Given the description of an element on the screen output the (x, y) to click on. 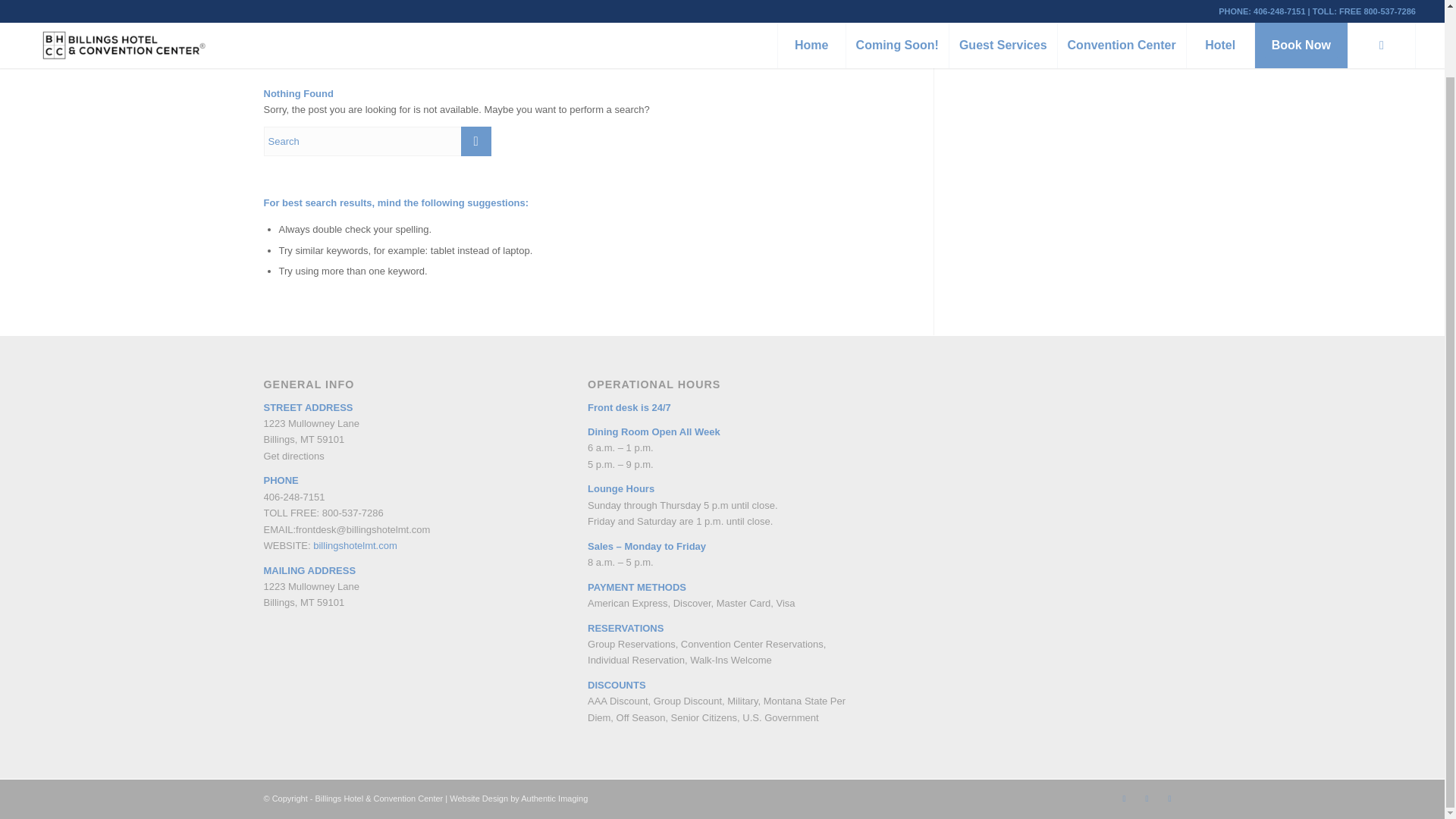
Home (1101, 16)
Twitter (1169, 798)
billingshotelmt.com (355, 545)
Facebook (1124, 798)
Pinterest (1146, 798)
